Given the description of an element on the screen output the (x, y) to click on. 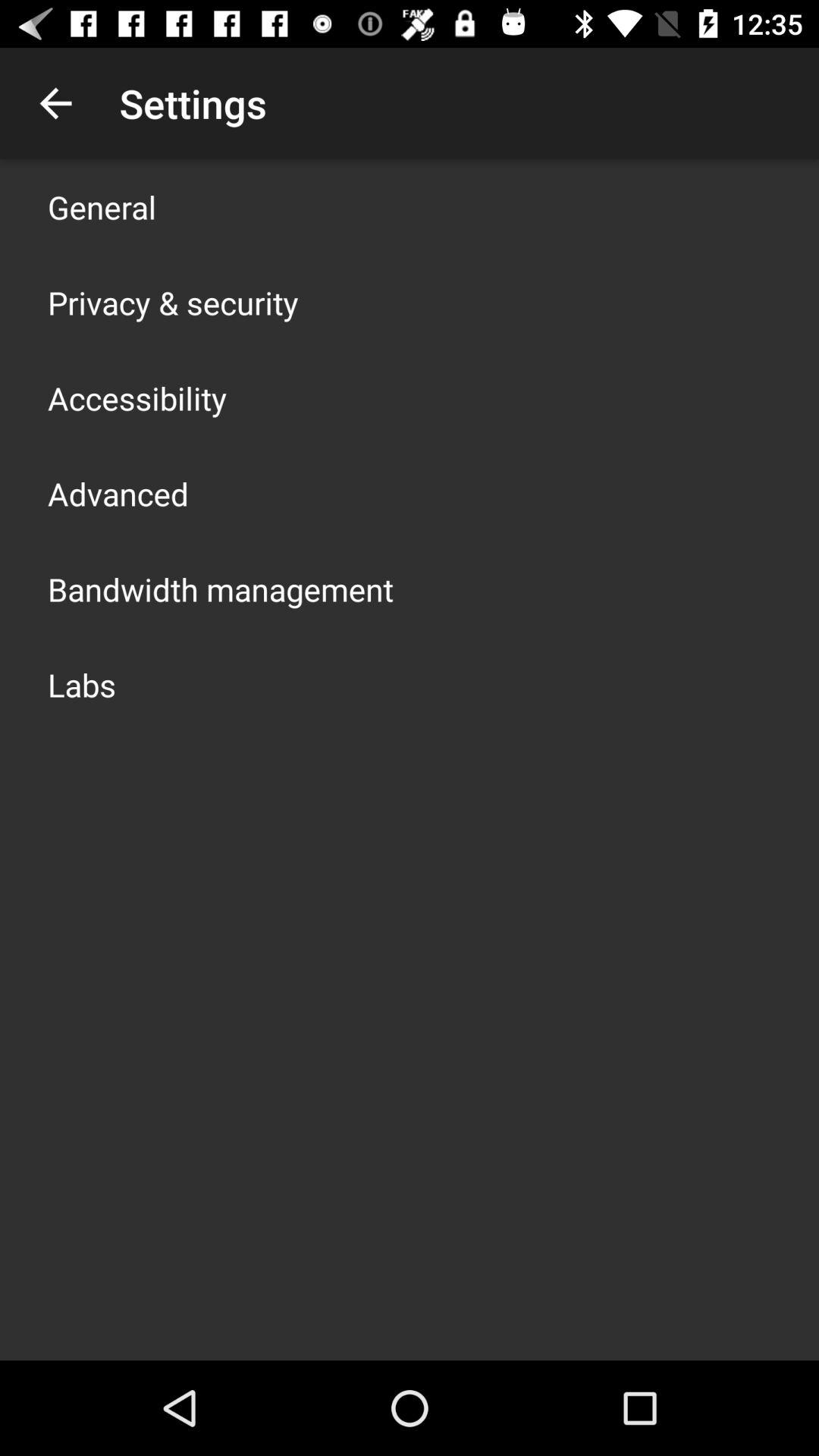
tap bandwidth management item (220, 588)
